Given the description of an element on the screen output the (x, y) to click on. 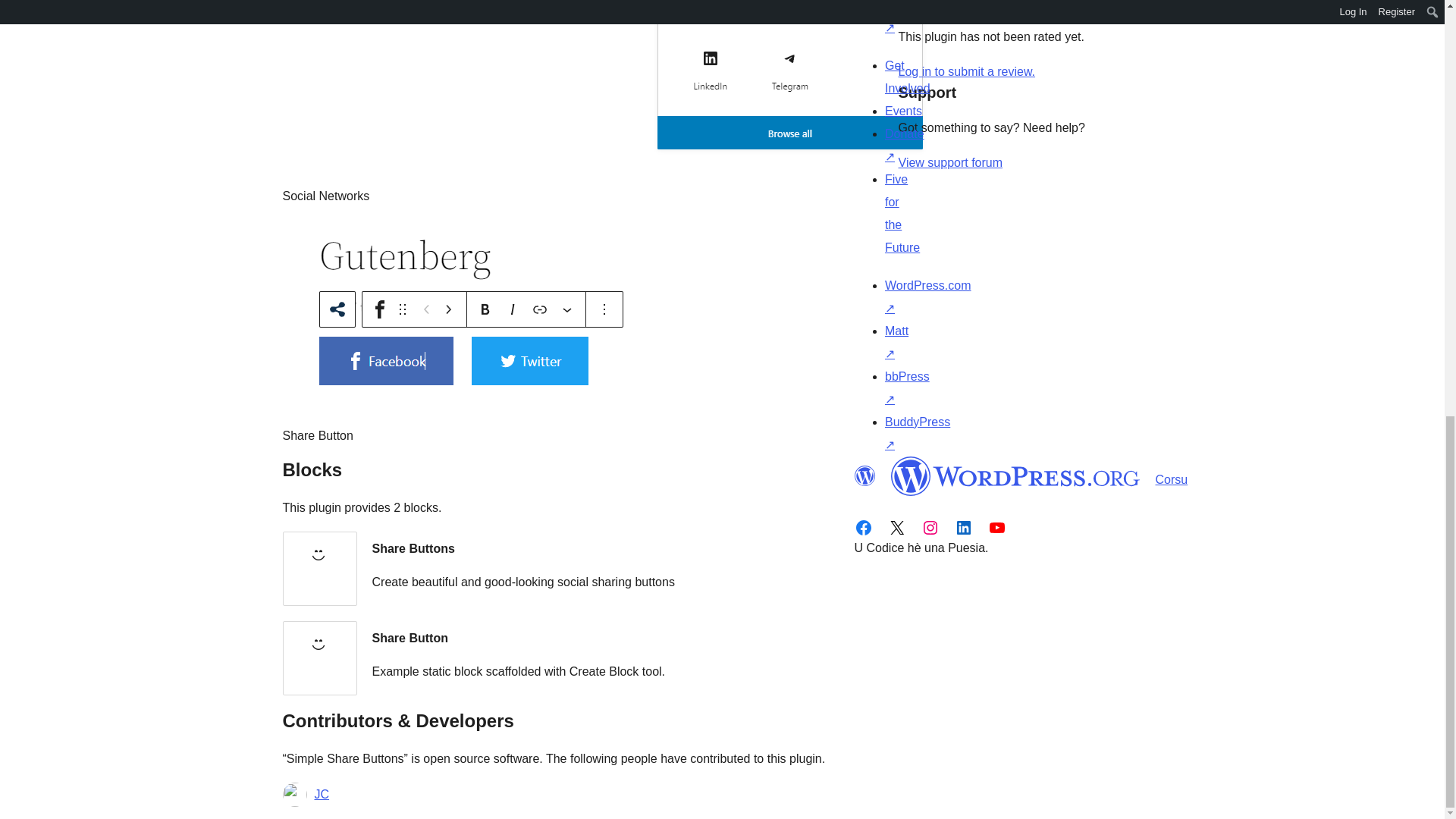
JC (321, 793)
WordPress.org (864, 476)
Log in to WordPress.org (966, 71)
WordPress.org (1014, 476)
